Given the description of an element on the screen output the (x, y) to click on. 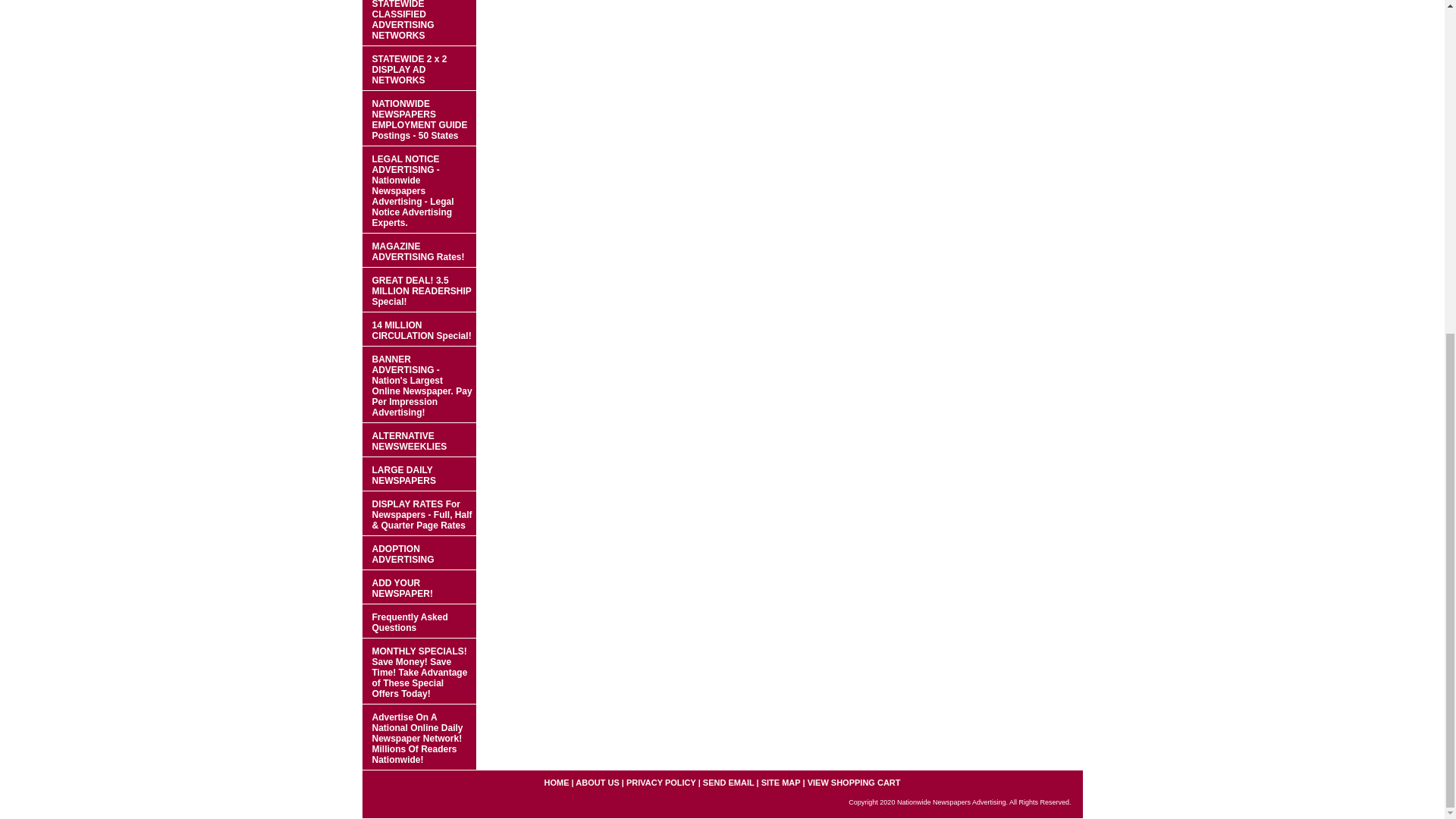
14 MILLION CIRCULATION Special! (419, 329)
ADOPTION ADVERTISING (419, 553)
LARGE DAILY NEWSPAPERS (419, 474)
STATEWIDE 2 x 2 DISPLAY AD NETWORKS (419, 67)
STATEWIDE CLASSIFIED ADVERTISING NETWORKS (419, 22)
14 MILLION CIRCULATION Special! (419, 329)
Frequently Asked Questions (419, 621)
ABOUT US (596, 782)
NATIONWIDE NEWSPAPERS EMPLOYMENT GUIDE Postings - 50 States (419, 118)
PRIVACY POLICY (660, 782)
STATEWIDE 2 x 2 DISPLAY AD NETWORKS (419, 67)
HOME (556, 782)
